Given the description of an element on the screen output the (x, y) to click on. 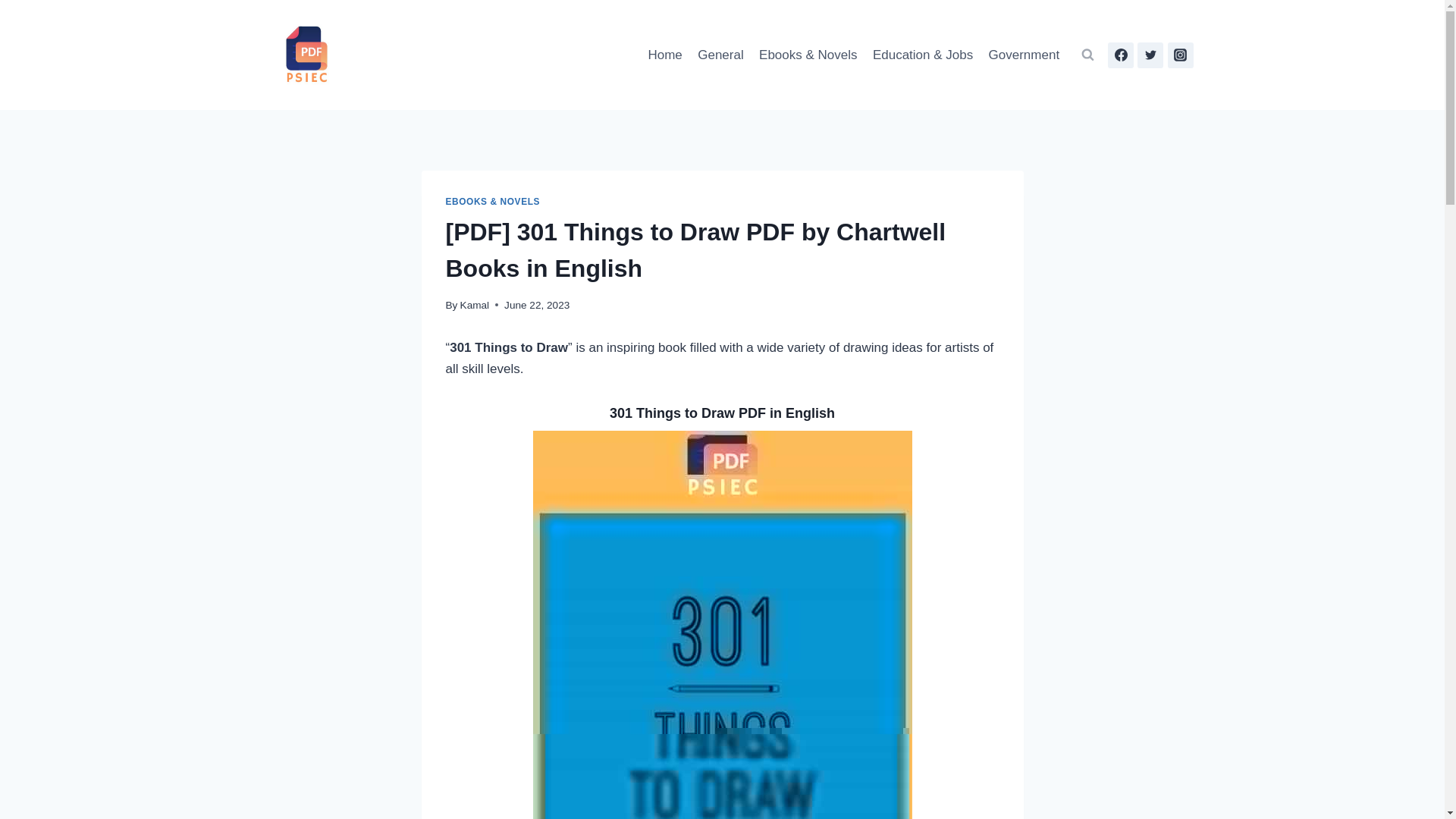
Home (665, 54)
Government (1023, 54)
Kamal (474, 305)
General (720, 54)
